Given the description of an element on the screen output the (x, y) to click on. 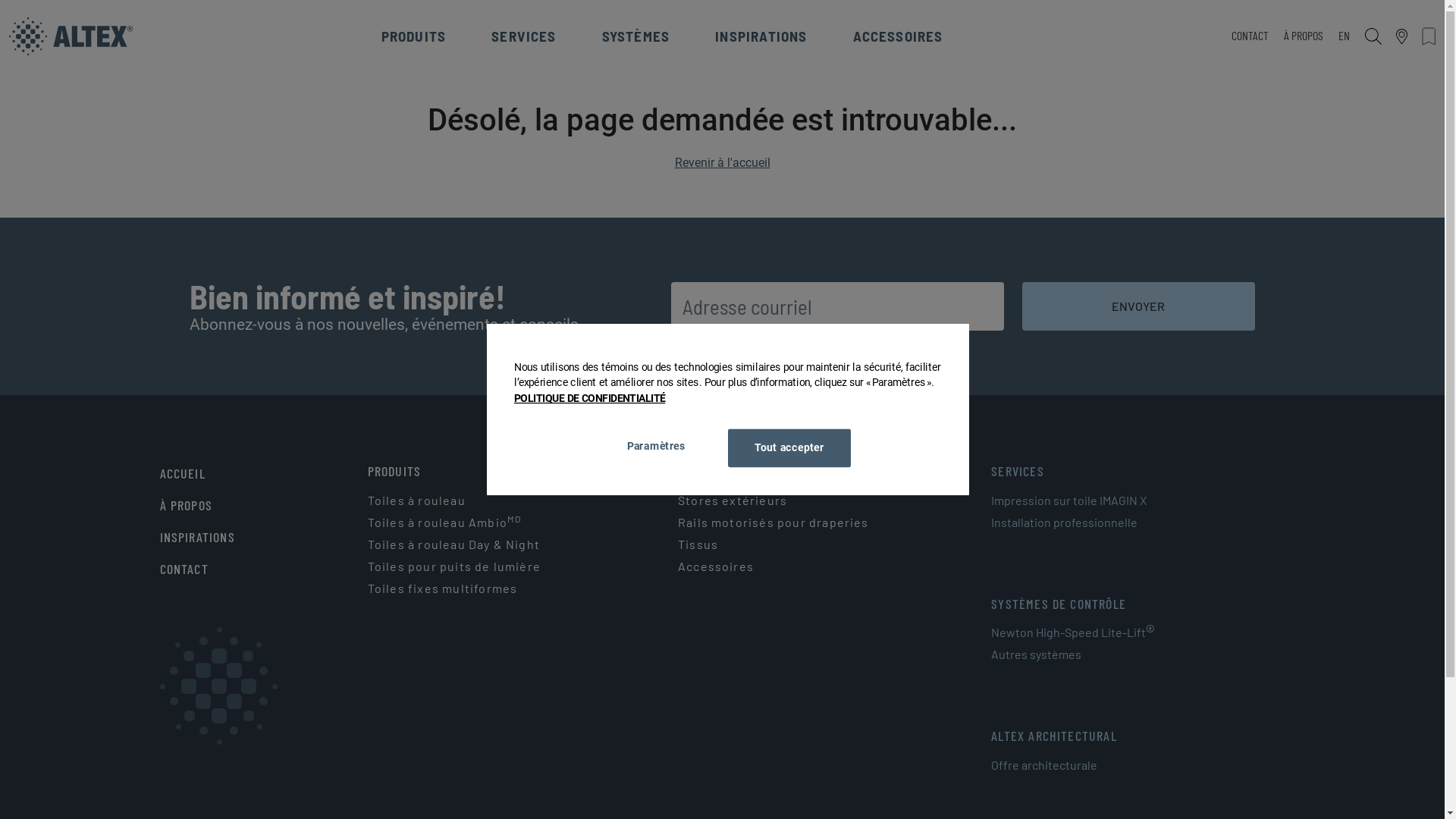
ACCESSOIRES Element type: text (897, 36)
SERVICES Element type: text (523, 36)
Impression sur toile IMAGIN X Element type: text (1068, 500)
INSPIRATIONS Element type: text (760, 36)
CONTACT Element type: text (184, 568)
INSPIRATIONS Element type: text (197, 537)
Envoyer Element type: text (1138, 306)
Tout accepter Element type: text (779, 445)
Toiles fixes multiformes Element type: text (442, 588)
EN Element type: text (1343, 35)
ACCUEIL Element type: text (182, 473)
Accessoires Element type: text (715, 566)
PRODUITS Element type: text (413, 36)
Offre architecturale Element type: text (1044, 765)
Installation professionnelle Element type: text (1064, 522)
CONTACT Element type: text (1249, 35)
Entrez votre adresse de courriel Element type: hover (837, 306)
Tissus Element type: text (697, 544)
